Given the description of an element on the screen output the (x, y) to click on. 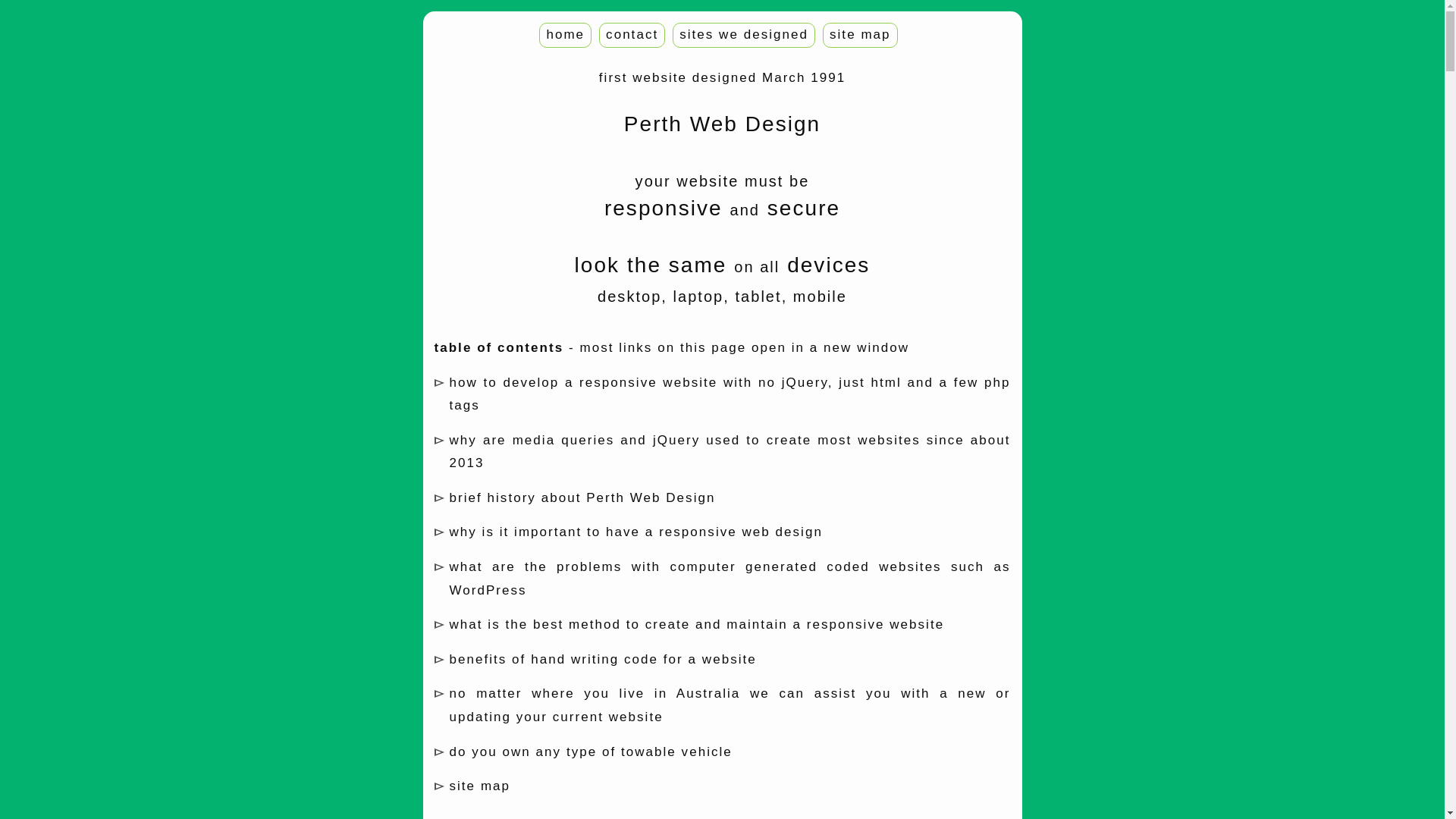
site map Element type: text (479, 785)
why is it important to have a responsive web design Element type: text (635, 531)
benefits of hand writing code for a website Element type: text (602, 659)
brief history about Perth Web Design Element type: text (581, 497)
site map Element type: text (860, 34)
sites we designed Element type: text (743, 34)
contact Element type: text (631, 34)
do you own any type of towable vehicle Element type: text (589, 751)
home Element type: text (565, 34)
